Given the description of an element on the screen output the (x, y) to click on. 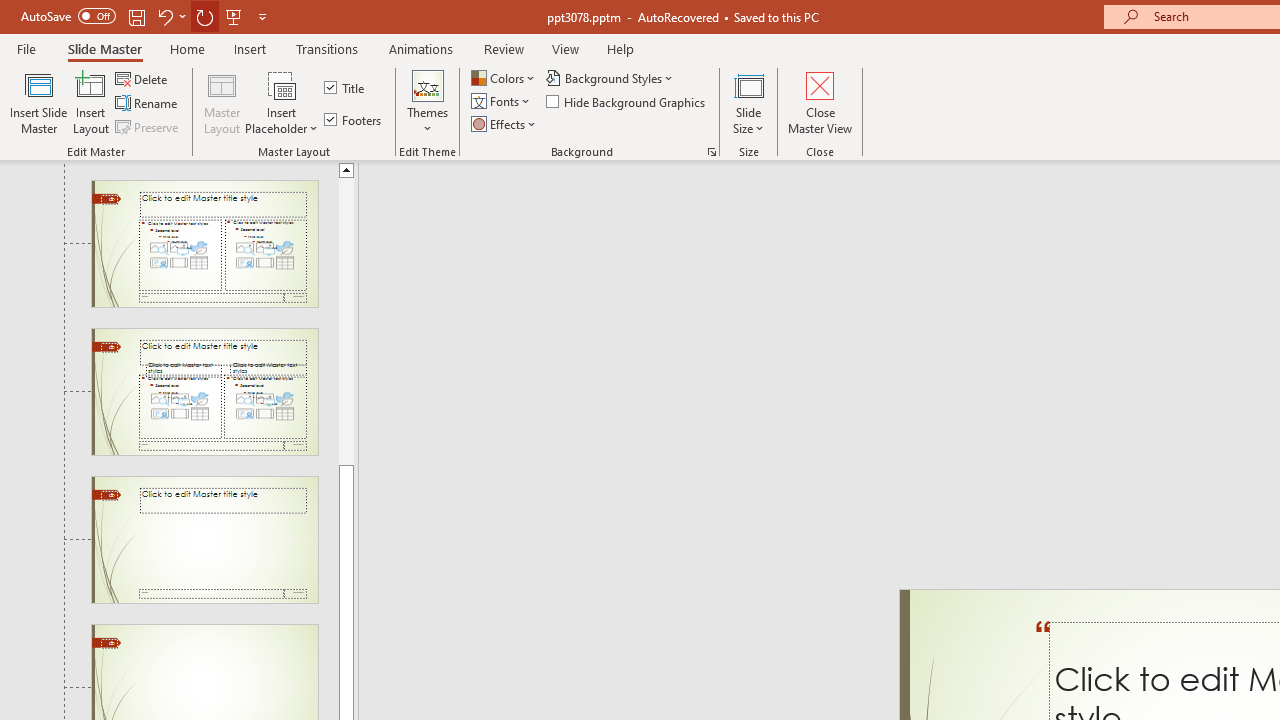
Content (282, 84)
Insert Placeholder (282, 102)
Fonts (502, 101)
Colors (504, 78)
